Given the description of an element on the screen output the (x, y) to click on. 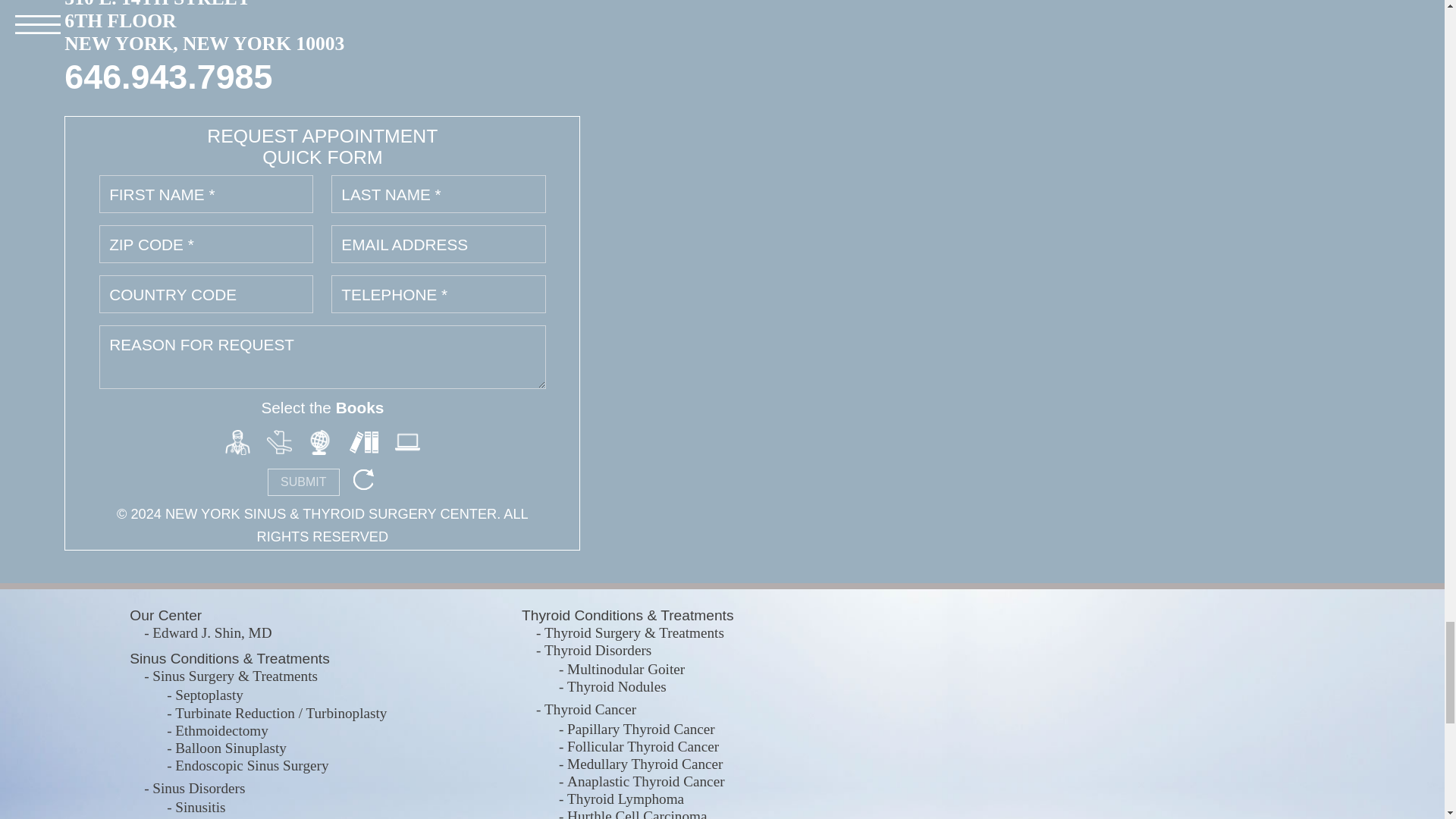
SUBMIT (303, 482)
Captcha (363, 440)
Refresh (363, 479)
